Given the description of an element on the screen output the (x, y) to click on. 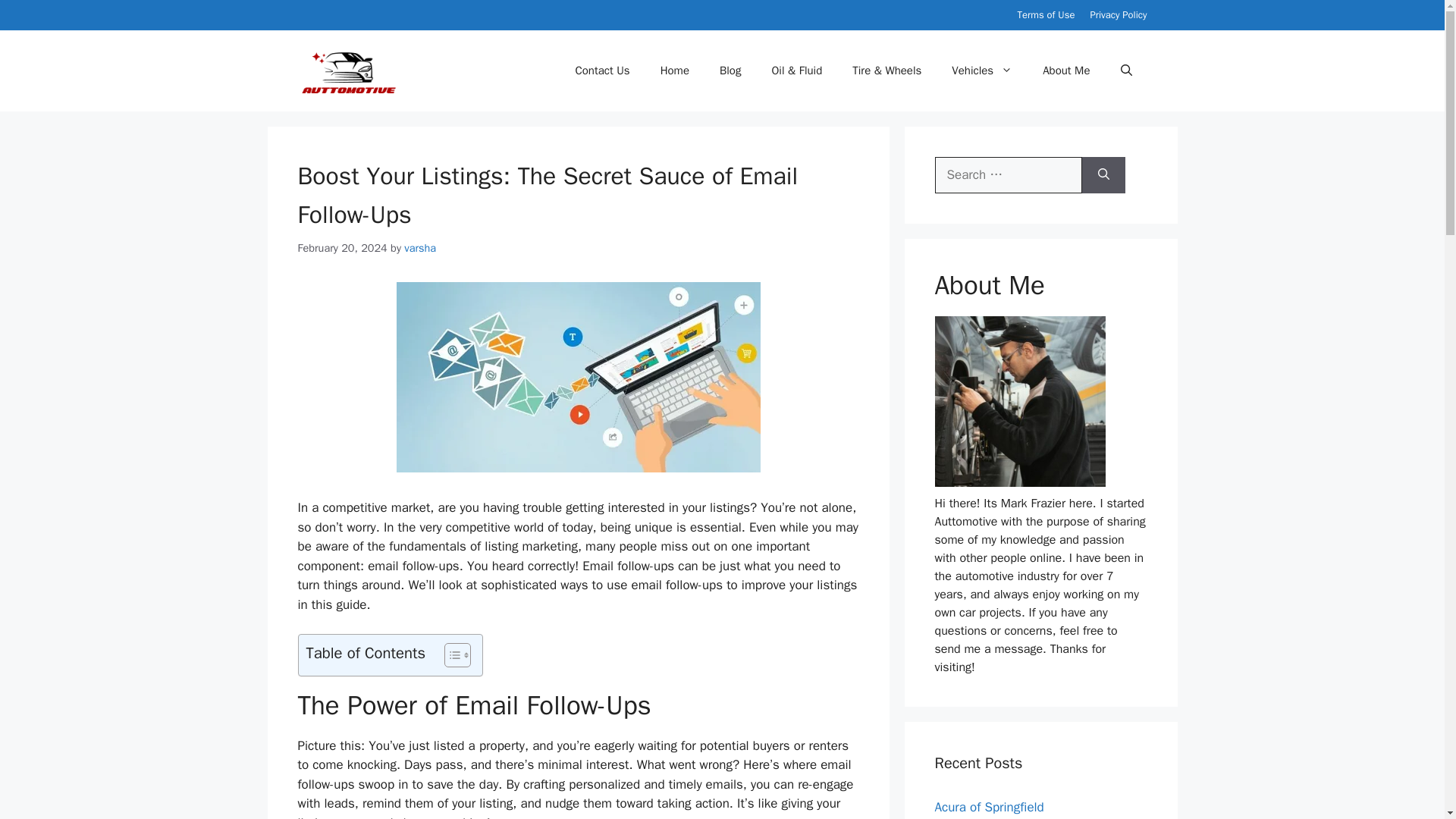
View all posts by varsha (419, 247)
Blog (729, 70)
Vehicles (981, 70)
varsha (419, 247)
Privacy Policy (1118, 14)
Contact Us (602, 70)
Home (674, 70)
Terms of Use (1046, 14)
About Me (1066, 70)
